Given the description of an element on the screen output the (x, y) to click on. 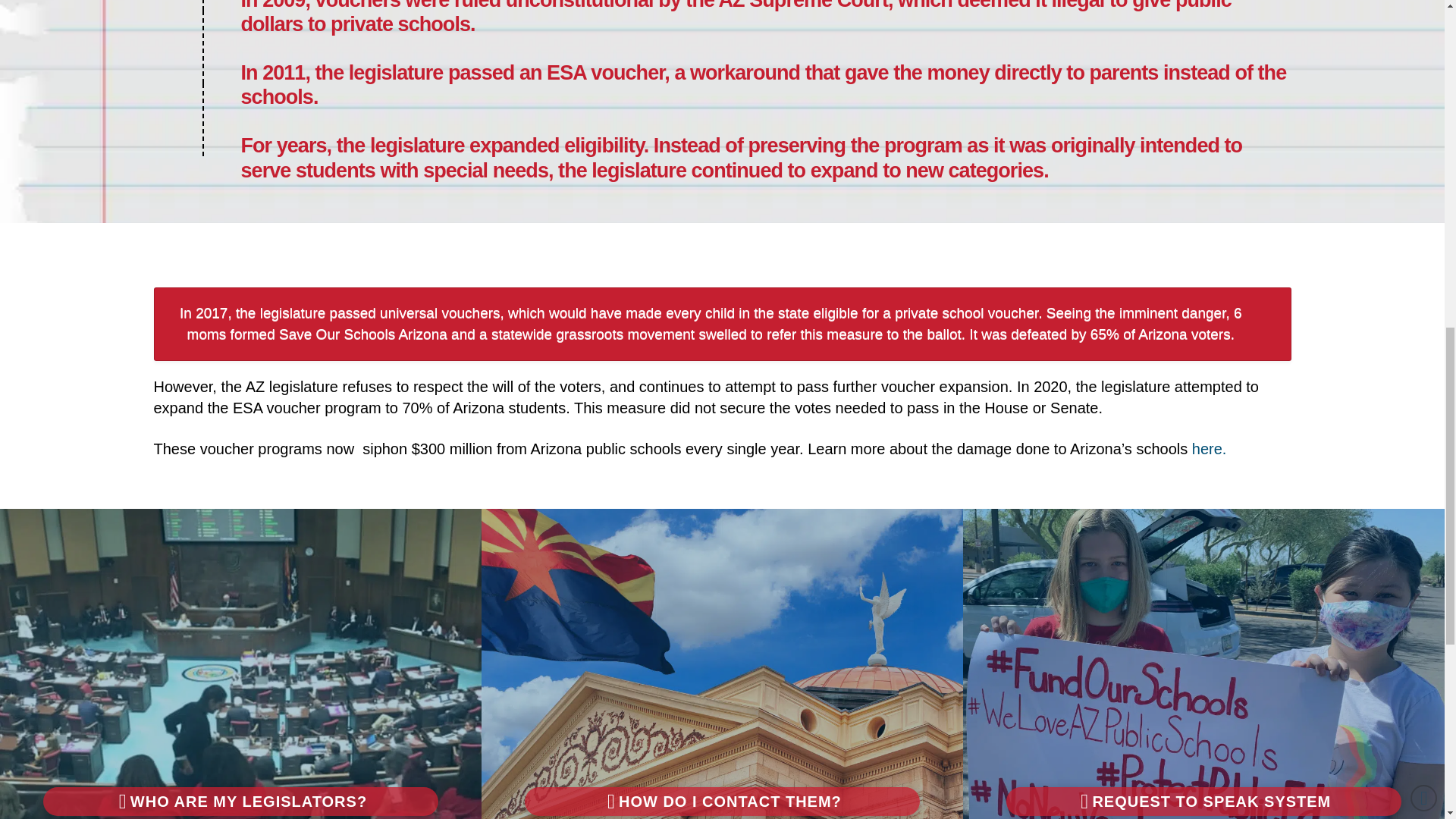
HOW DO I CONTACT THEM? (722, 801)
WHO ARE MY LEGISLATORS? (240, 801)
here. (1209, 448)
